Given the description of an element on the screen output the (x, y) to click on. 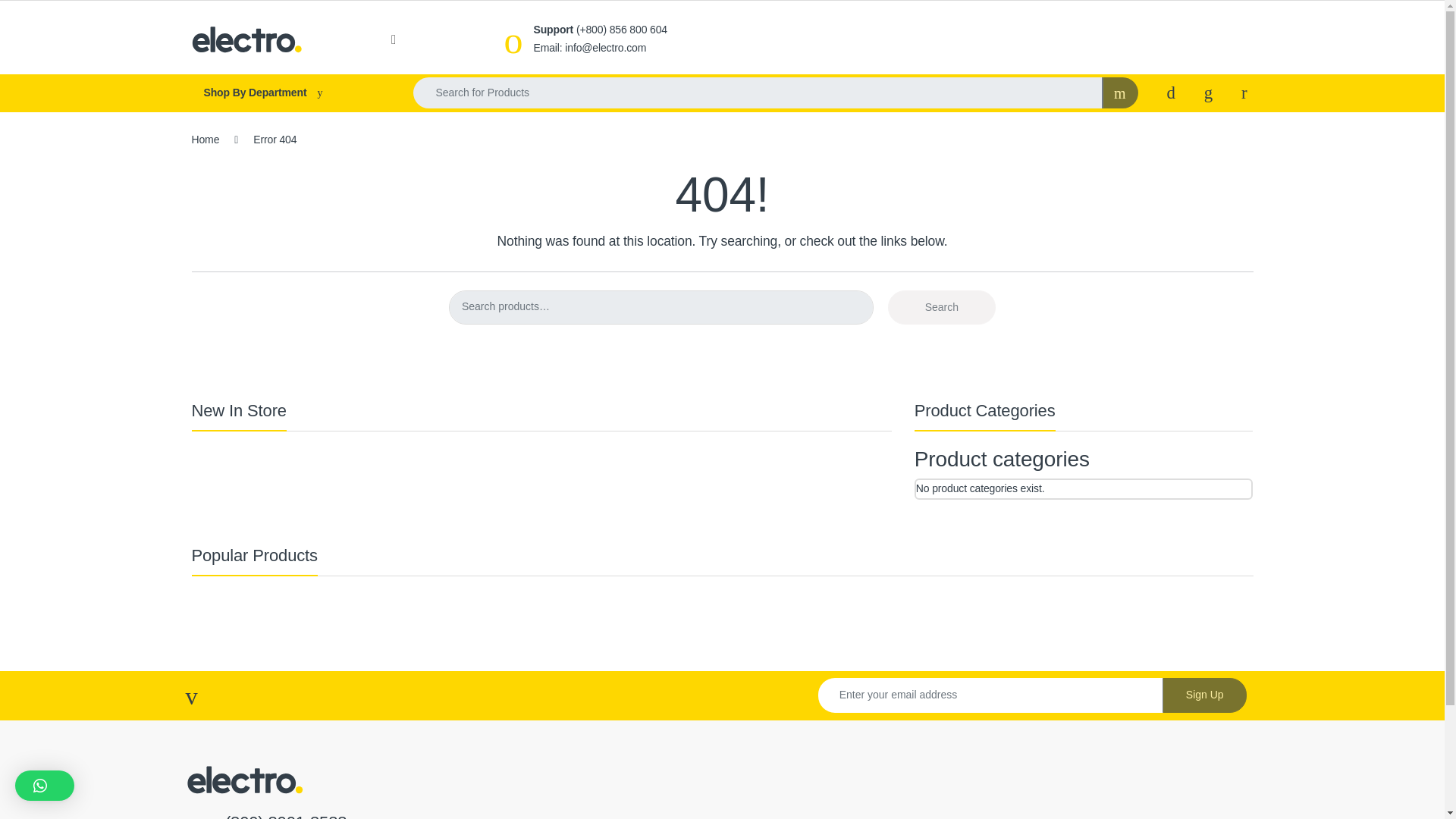
Shop By Department (287, 93)
Home (204, 139)
Search (941, 307)
Sign Up (1204, 695)
